Given the description of an element on the screen output the (x, y) to click on. 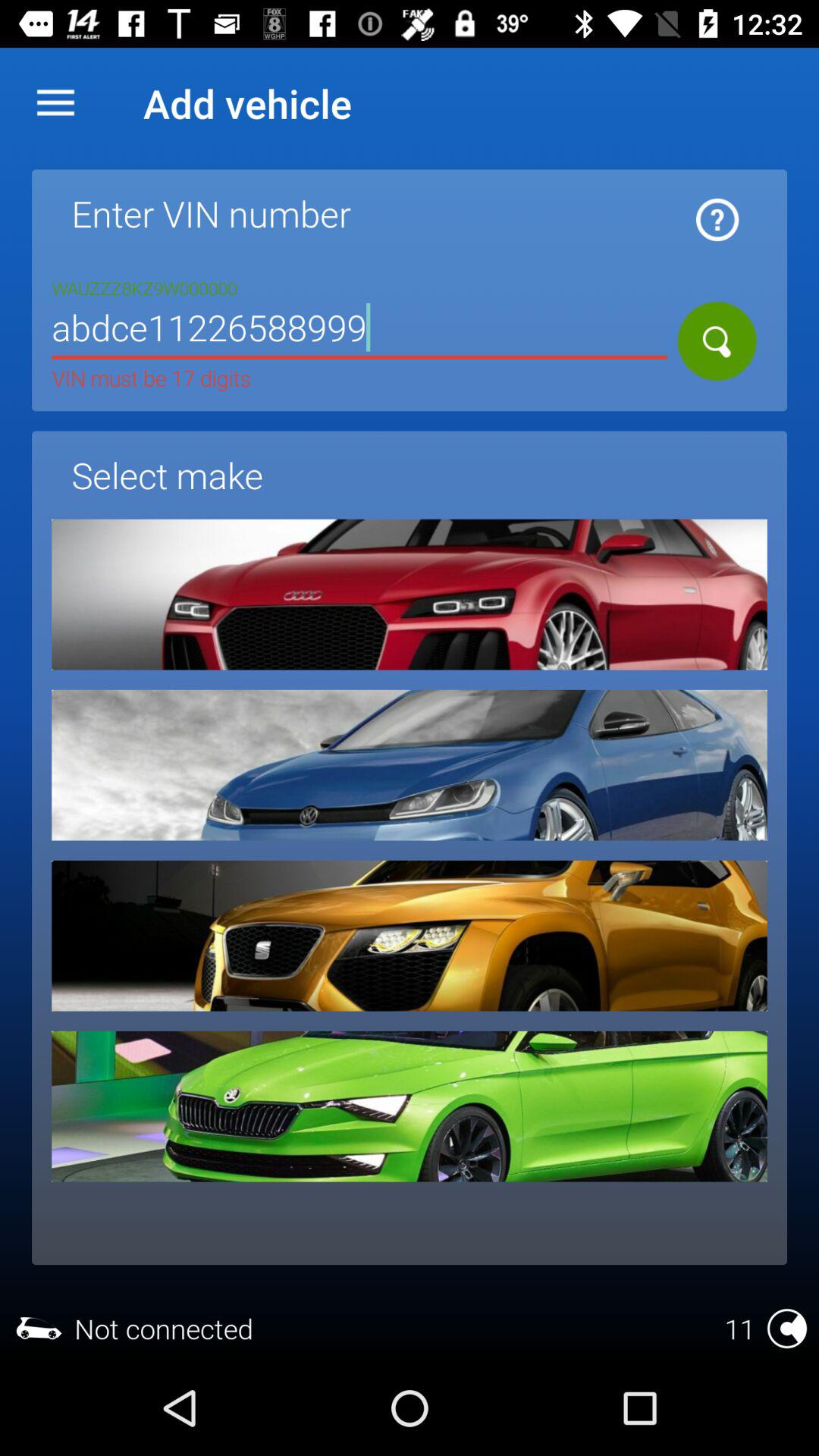
select the choice (409, 1106)
